Given the description of an element on the screen output the (x, y) to click on. 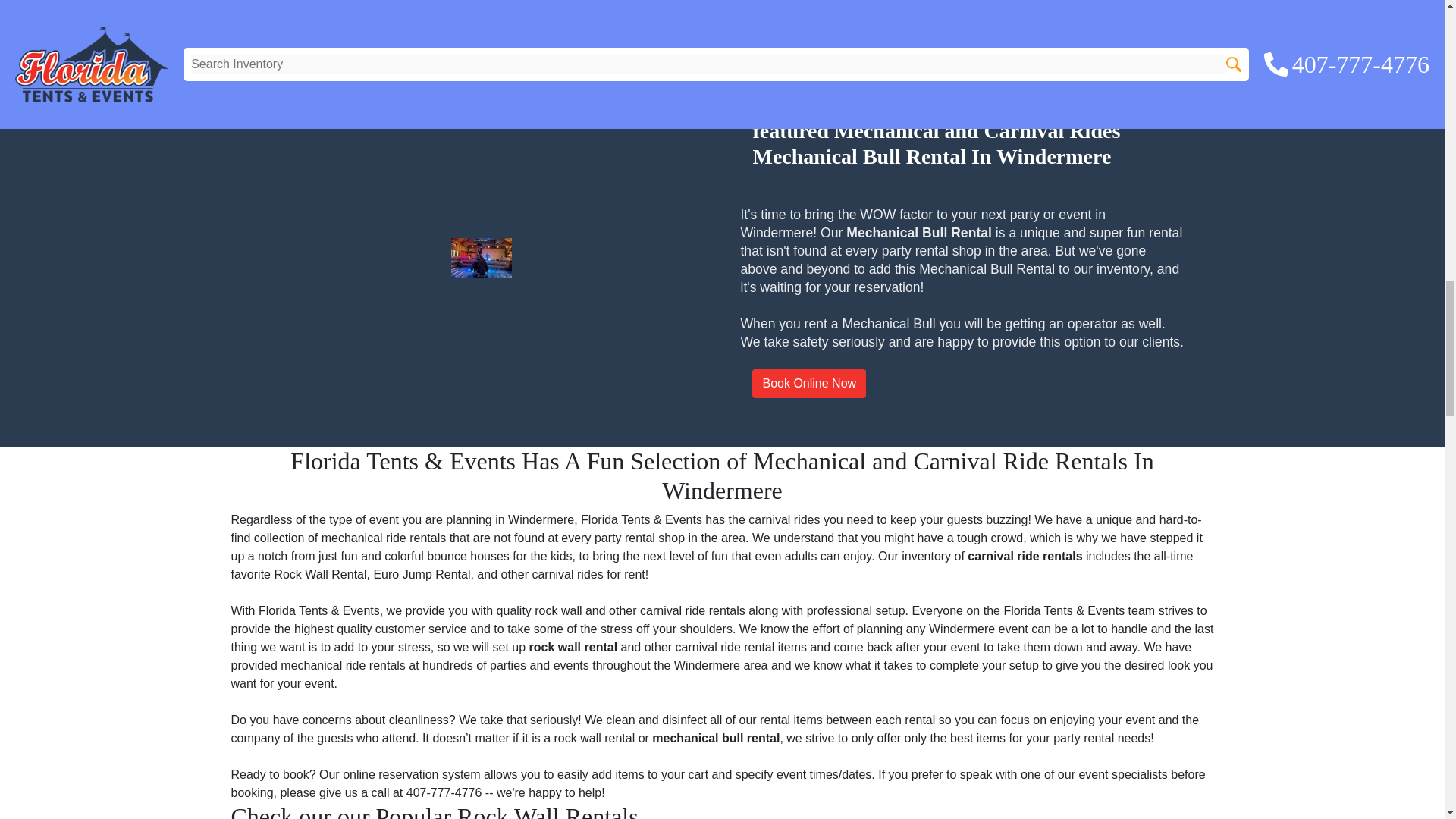
Mechanical Bull (887, 323)
Book Online Now (809, 383)
407-777-4776 (445, 792)
Windermere (961, 628)
Book Now (360, 1)
